Given the description of an element on the screen output the (x, y) to click on. 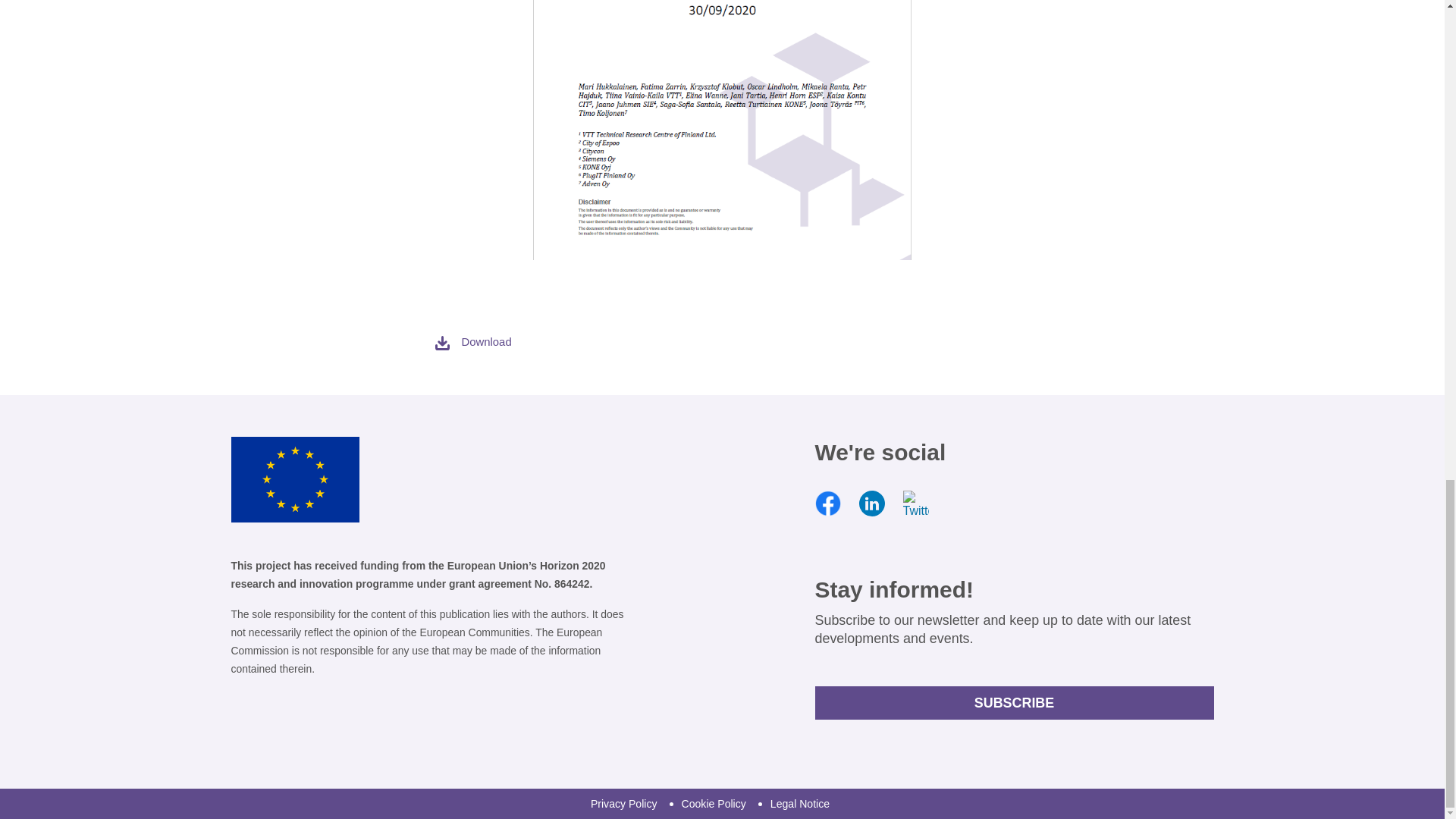
Download (471, 341)
Privacy Policy (624, 803)
SUBSCRIBE (1012, 702)
